Given the description of an element on the screen output the (x, y) to click on. 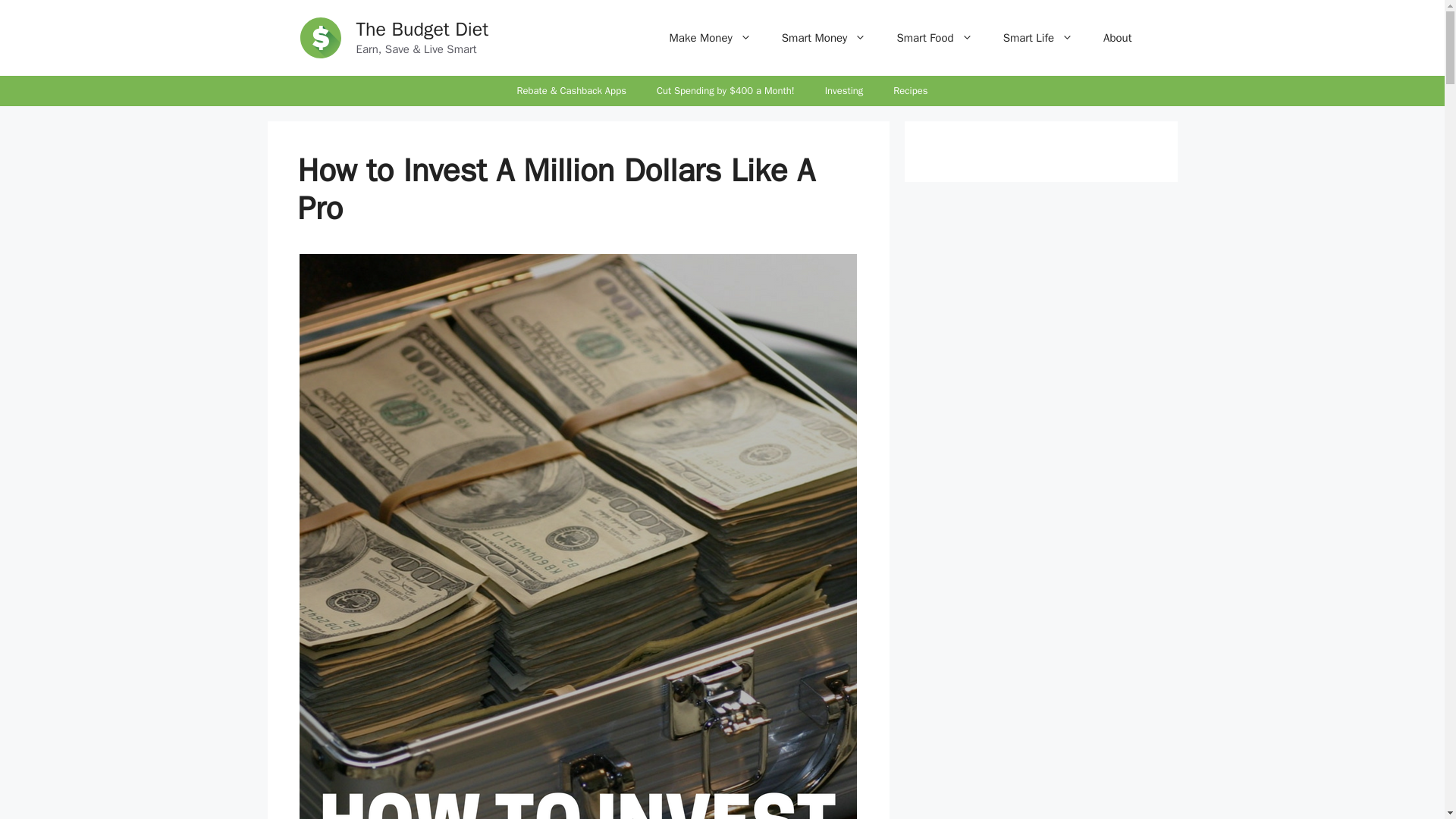
Make Money (710, 37)
Smart Food (933, 37)
Smart Money (824, 37)
Smart Life (1037, 37)
The Budget Diet (422, 28)
